Given the description of an element on the screen output the (x, y) to click on. 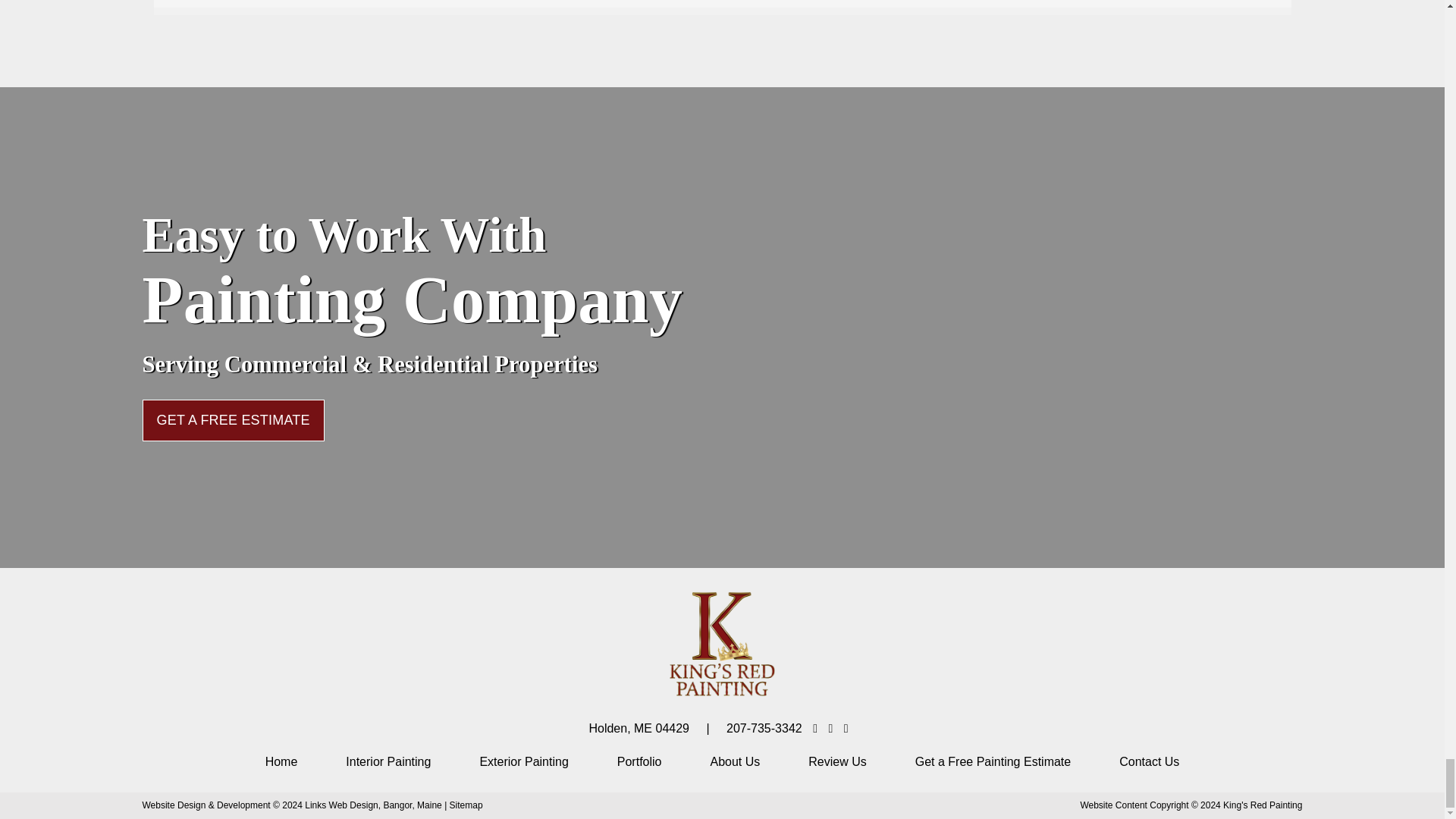
Links Web Design, Bangor, Maine (374, 805)
Links Web Design, Bangor, Maine (374, 805)
Review Us (837, 762)
About Us (735, 762)
Home (281, 762)
Exterior Painting (523, 762)
Contact Us (1149, 762)
207-735-3342 (764, 727)
Interior Painting (388, 762)
GET A FREE ESTIMATE (233, 420)
Get a Free Painting Estimate (992, 762)
Portfolio (639, 762)
